Given the description of an element on the screen output the (x, y) to click on. 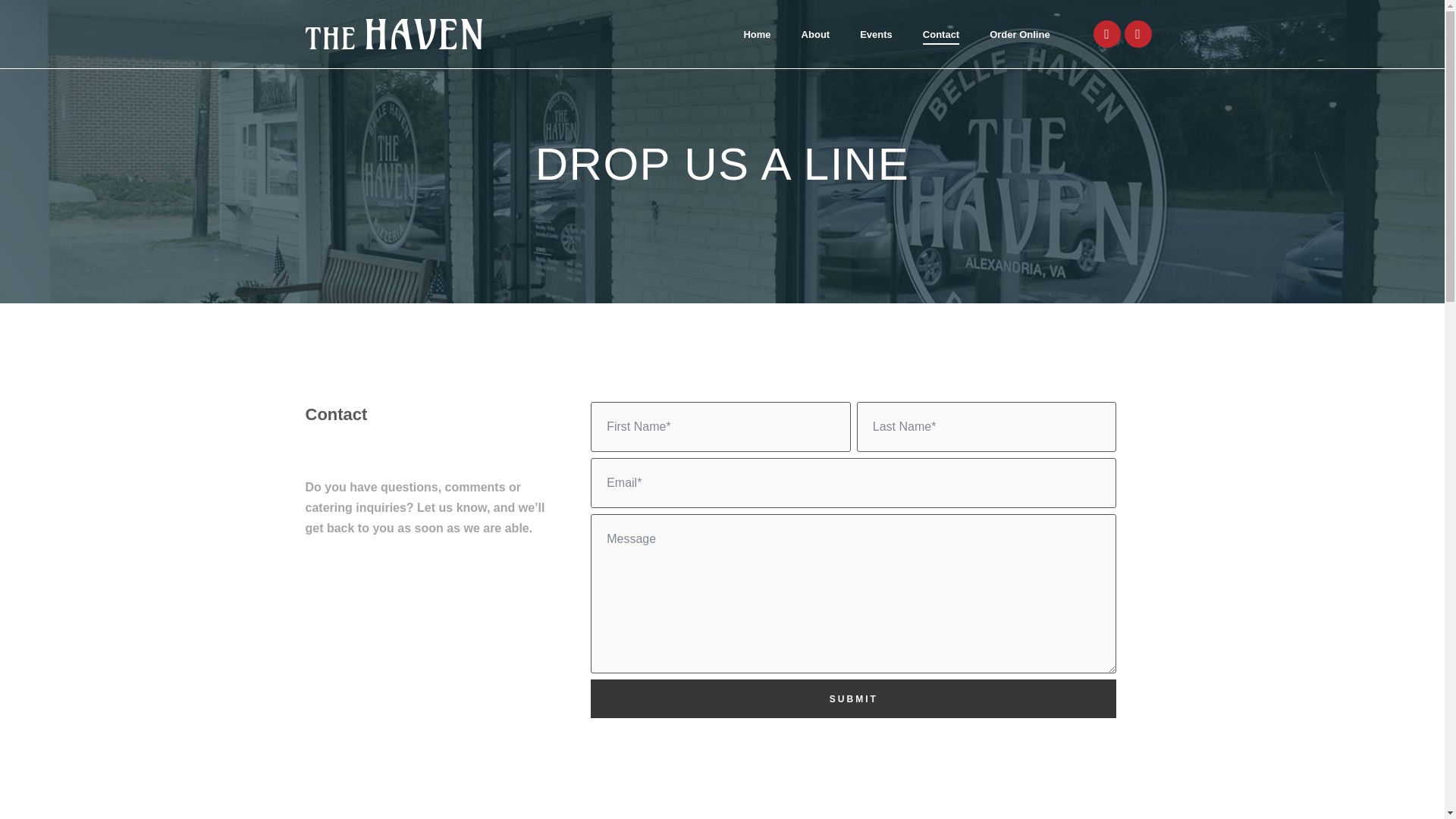
Order Online (1019, 28)
SUBMIT (853, 698)
Contact (941, 29)
About (815, 28)
Events (876, 28)
Home (756, 28)
